Given the description of an element on the screen output the (x, y) to click on. 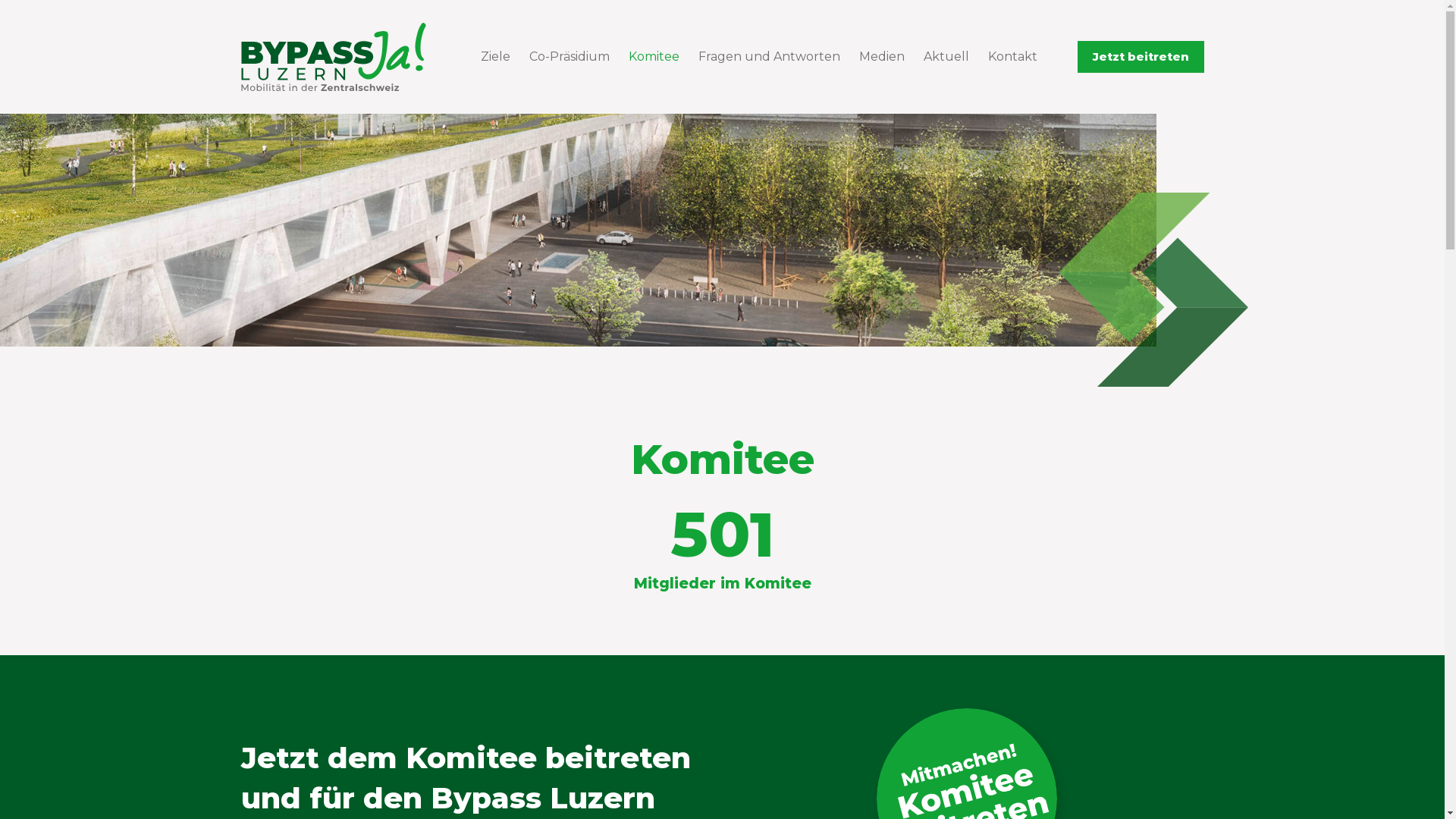
Kontakt Element type: text (1012, 56)
Komitee Element type: text (653, 56)
Fragen und Antworten Element type: text (768, 56)
Aktuell Element type: text (946, 56)
Ziele Element type: text (495, 56)
Zum Inhalt springen Element type: text (15, 7)
Medien Element type: text (881, 56)
Jetzt beitreten Element type: text (1139, 56)
